Given the description of an element on the screen output the (x, y) to click on. 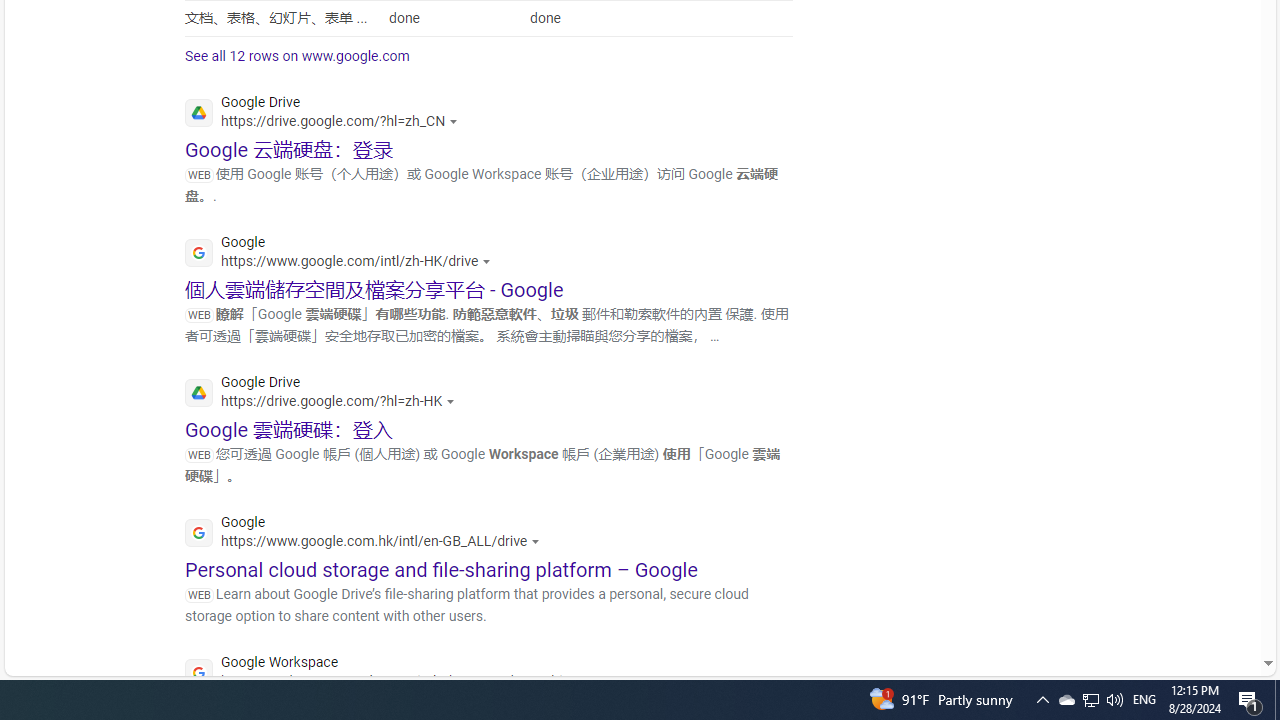
Actions for this site (588, 681)
